Given the description of an element on the screen output the (x, y) to click on. 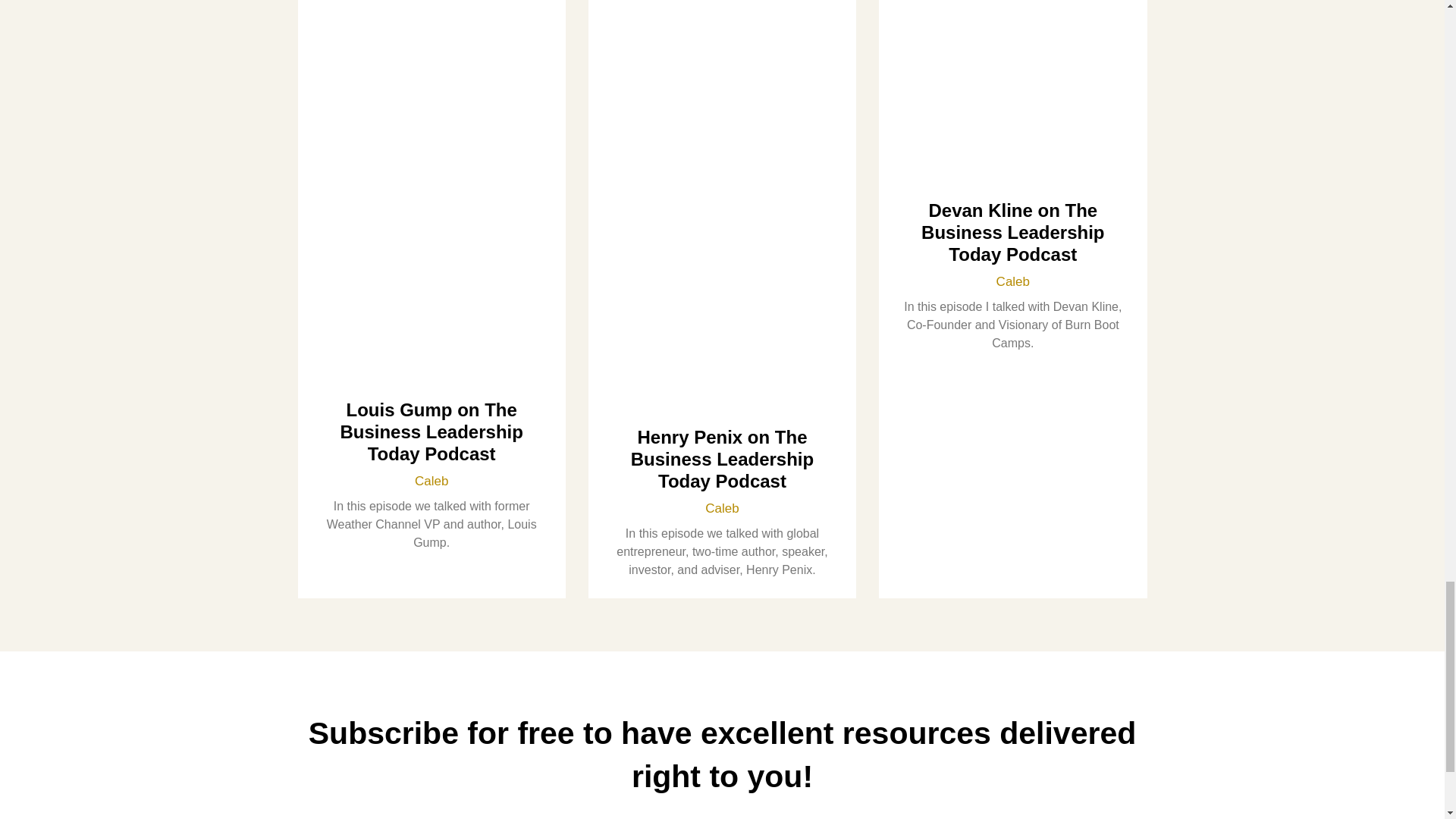
Henry Penix on The Business Leadership Today Podcast (721, 458)
Louis Gump on The Business Leadership Today Podcast (430, 431)
Devan Kline on The Business Leadership Today Podcast (1012, 231)
